Given the description of an element on the screen output the (x, y) to click on. 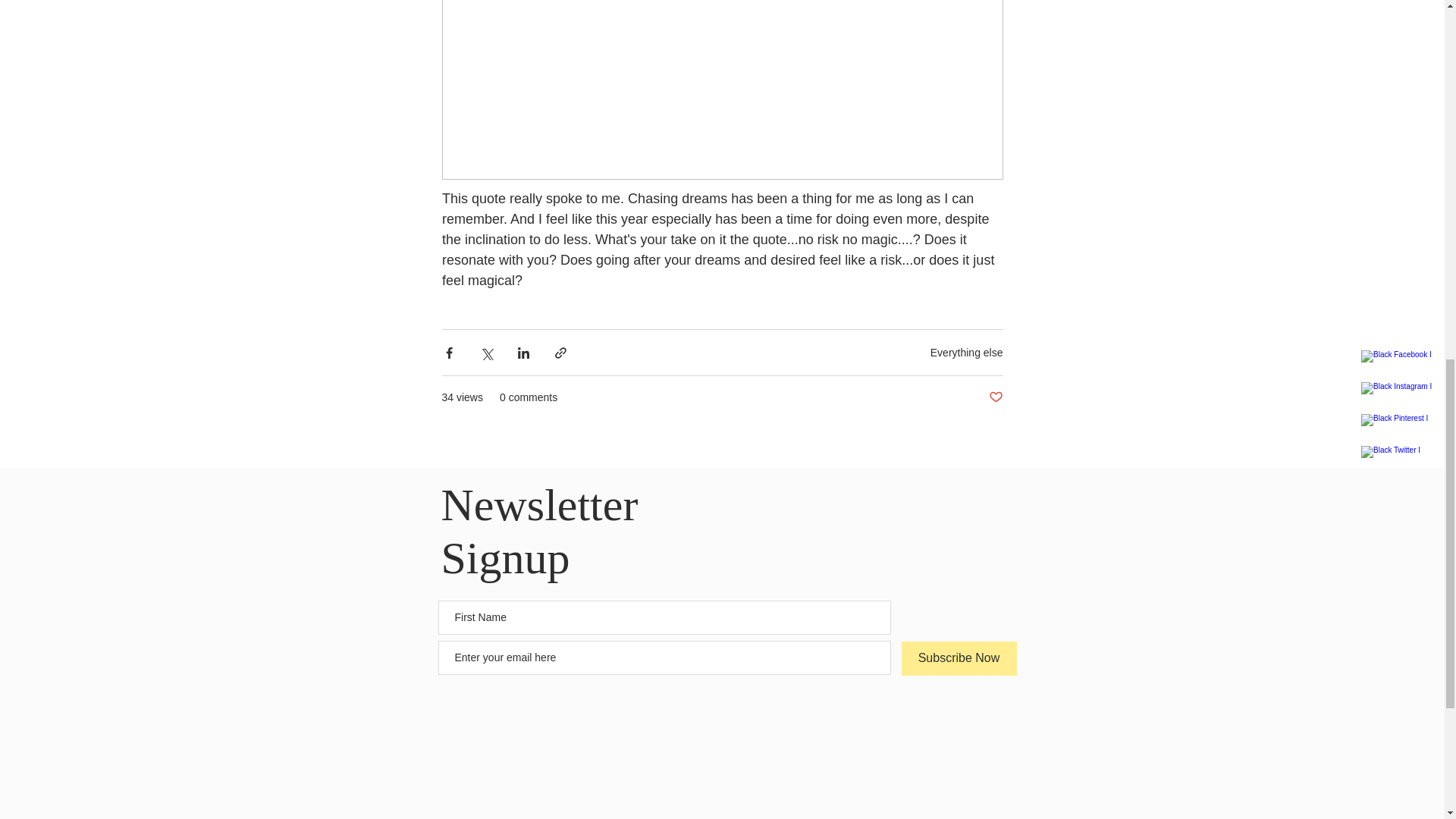
Subscribe Now (958, 658)
Post not marked as liked (995, 397)
Everything else (966, 351)
